Given the description of an element on the screen output the (x, y) to click on. 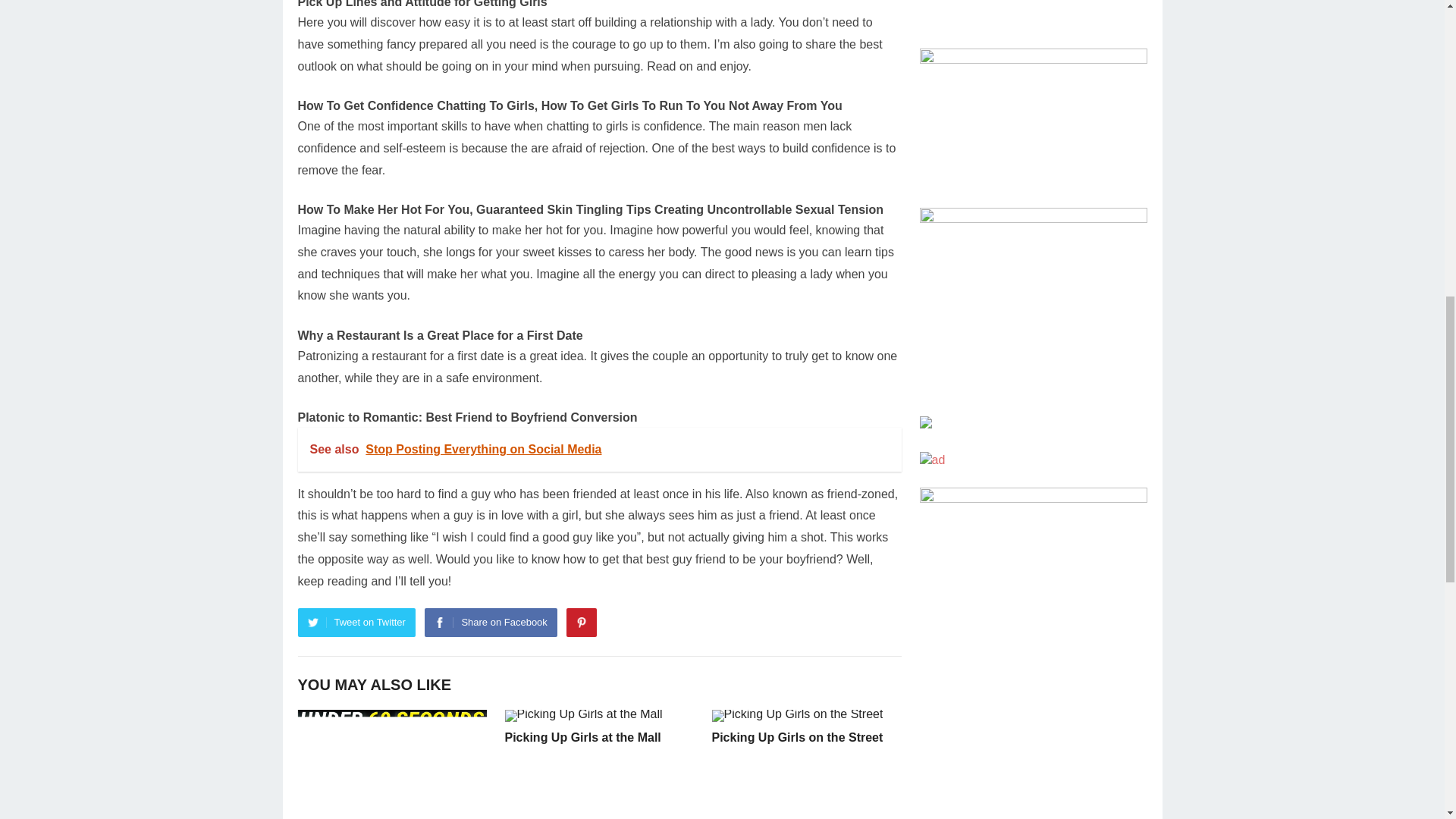
Picking Up Girls on the Street (796, 737)
See also  Stop Posting Everything on Social Media (599, 449)
Tweet on Twitter (355, 622)
Picking Up Girls on the Street 6 (796, 715)
Picking Up Girls at the Mall 4 (583, 715)
Picking Up Girls at the Mall (583, 737)
Pinterest (581, 622)
Share on Facebook (490, 622)
